Given the description of an element on the screen output the (x, y) to click on. 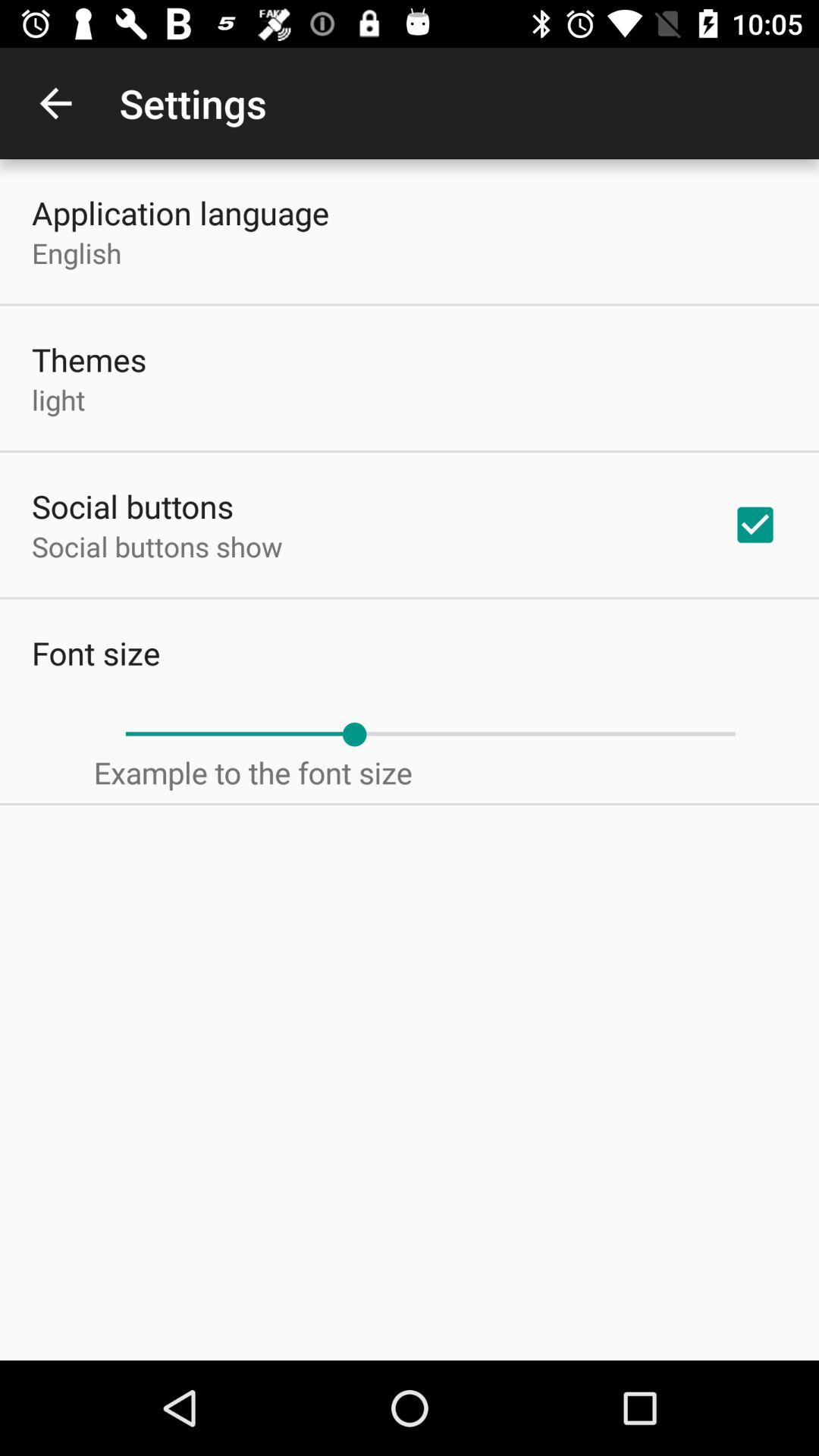
select item above the example to the item (430, 734)
